Given the description of an element on the screen output the (x, y) to click on. 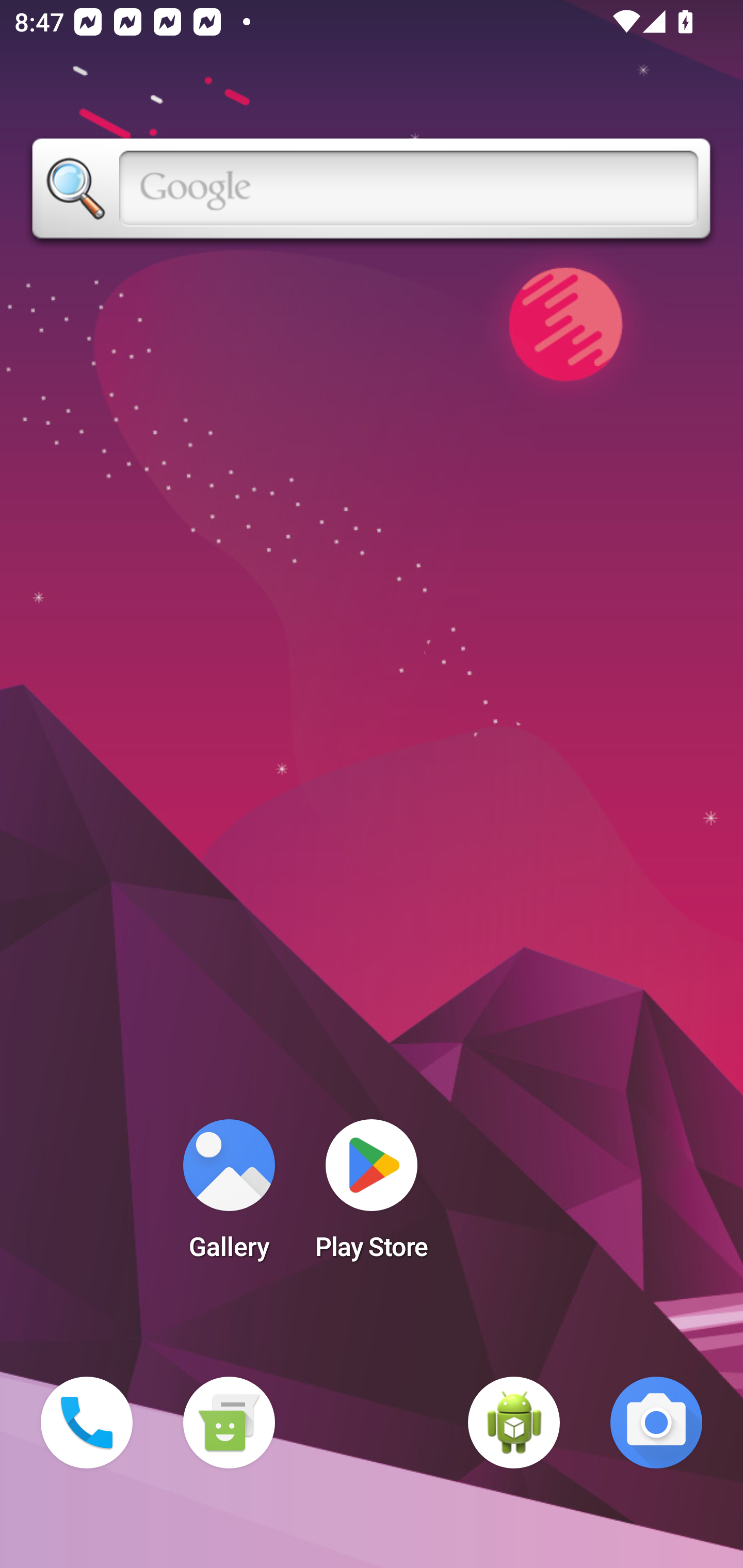
Gallery (228, 1195)
Play Store (371, 1195)
Phone (86, 1422)
Messaging (228, 1422)
WebView Browser Tester (513, 1422)
Camera (656, 1422)
